Given the description of an element on the screen output the (x, y) to click on. 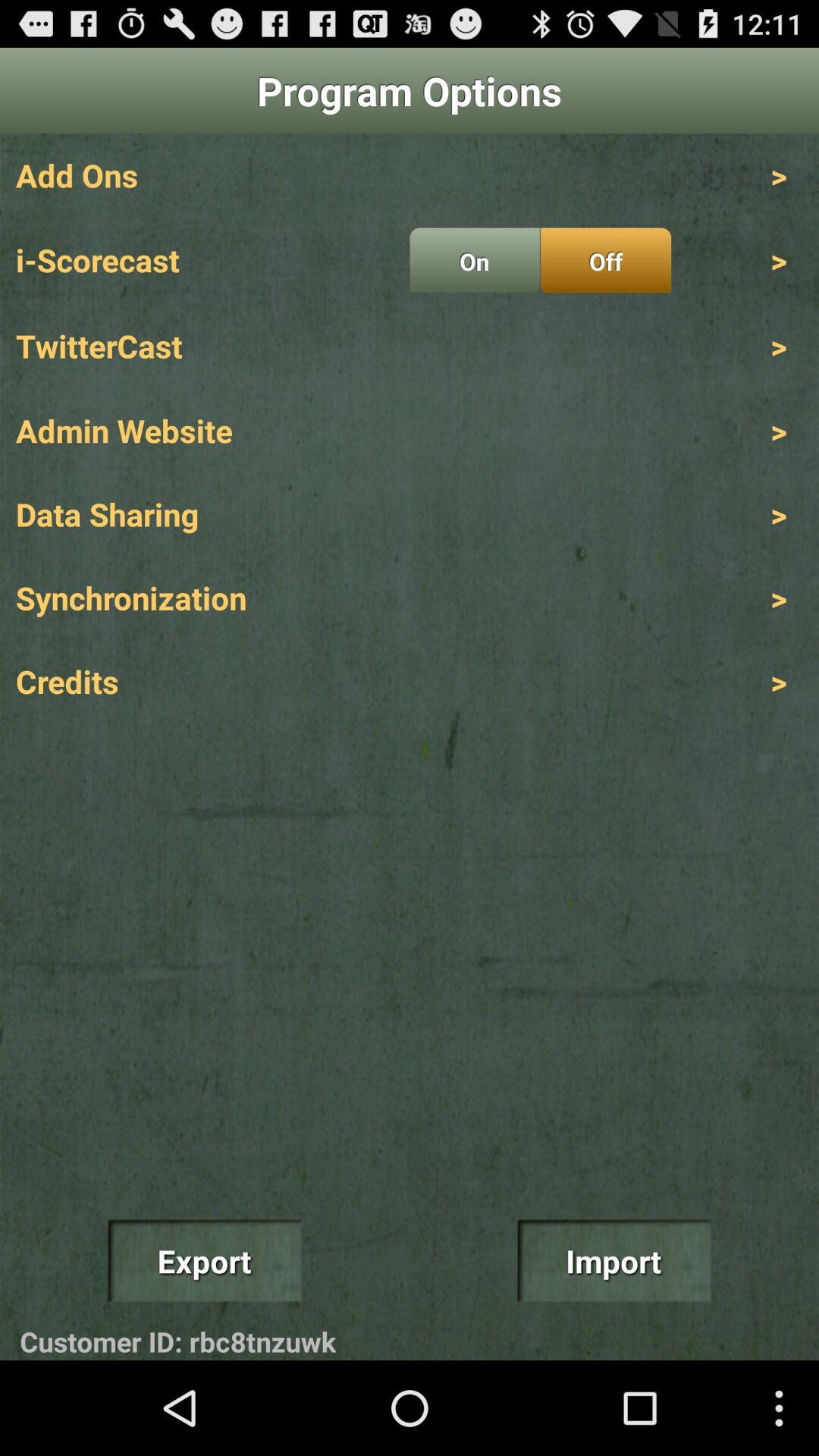
turn off item above customer id: rbc8tnzuwk (204, 1260)
